Given the description of an element on the screen output the (x, y) to click on. 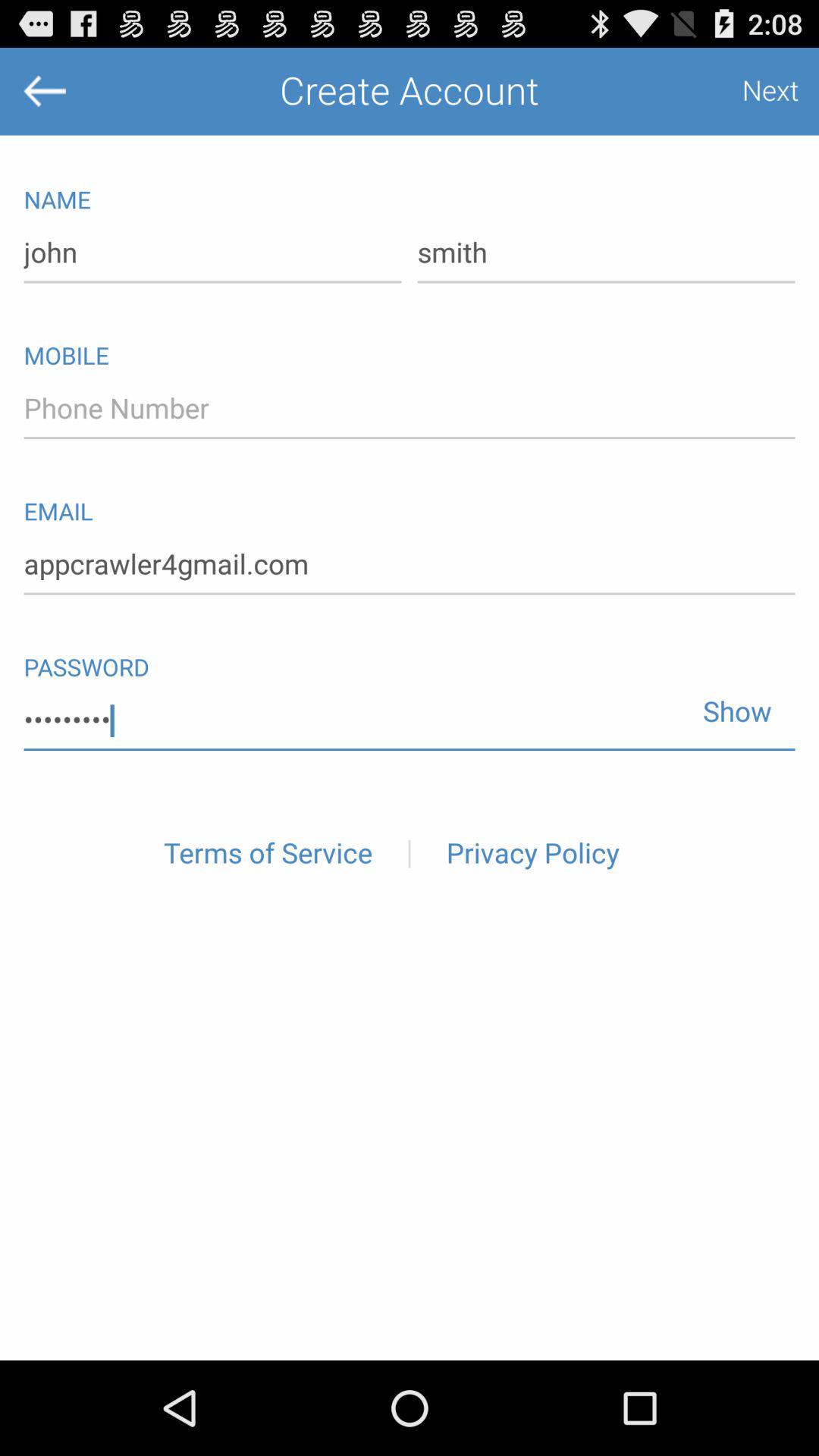
choose icon below mobile icon (409, 409)
